Given the description of an element on the screen output the (x, y) to click on. 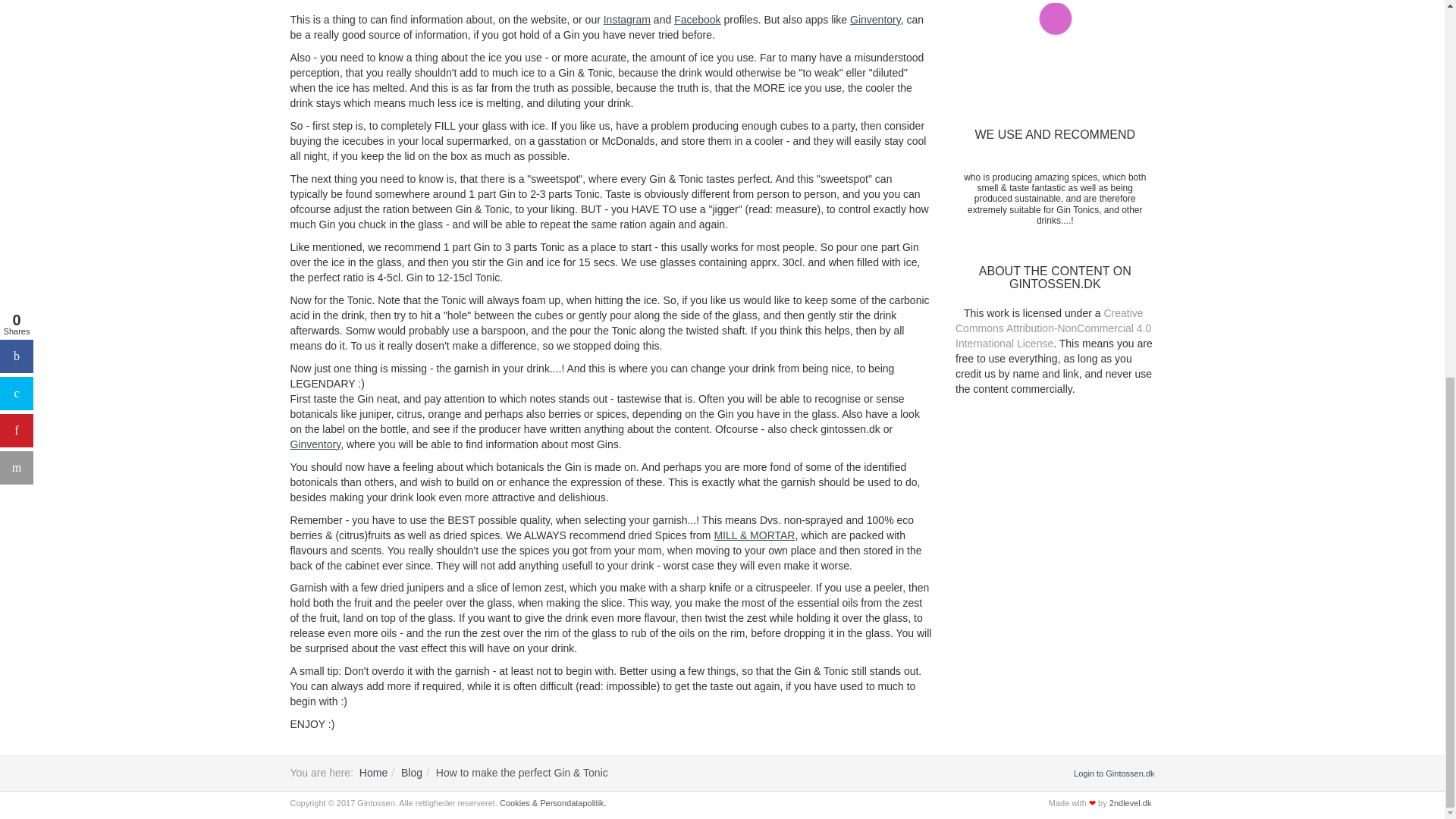
CMS Hjemmesider til professionelle (1130, 802)
Ginventory app. (875, 19)
Login (1114, 773)
Ginventory app. (314, 444)
